Given the description of an element on the screen output the (x, y) to click on. 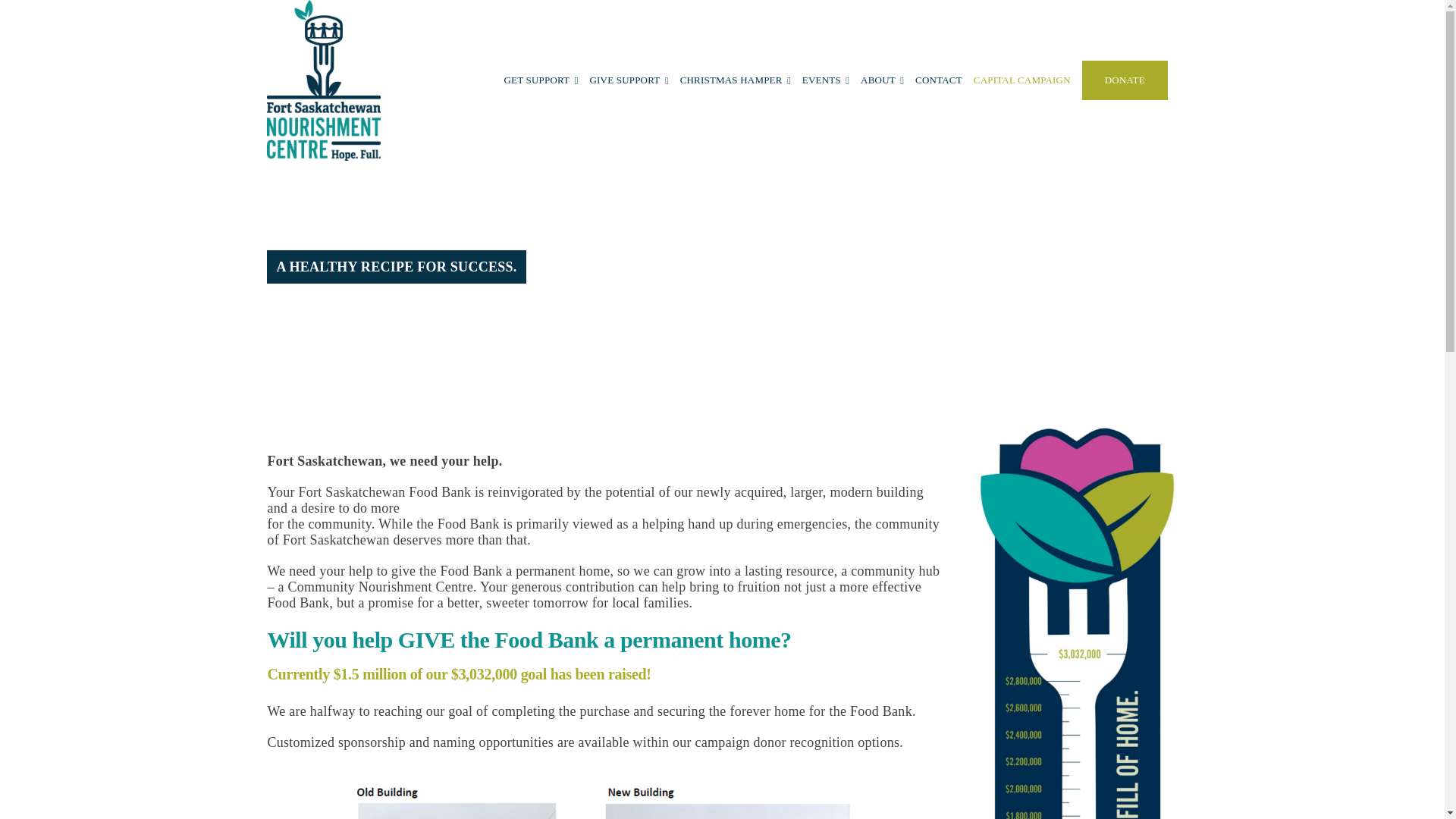
CHRISTMAS HAMPER (731, 79)
Buildings (604, 801)
CAPITAL CAMPAIGN (1022, 79)
CONTACT (938, 79)
DONATE (1124, 79)
EVENTS (821, 79)
GET SUPPORT (536, 79)
GIVE SUPPORT (624, 79)
